Given the description of an element on the screen output the (x, y) to click on. 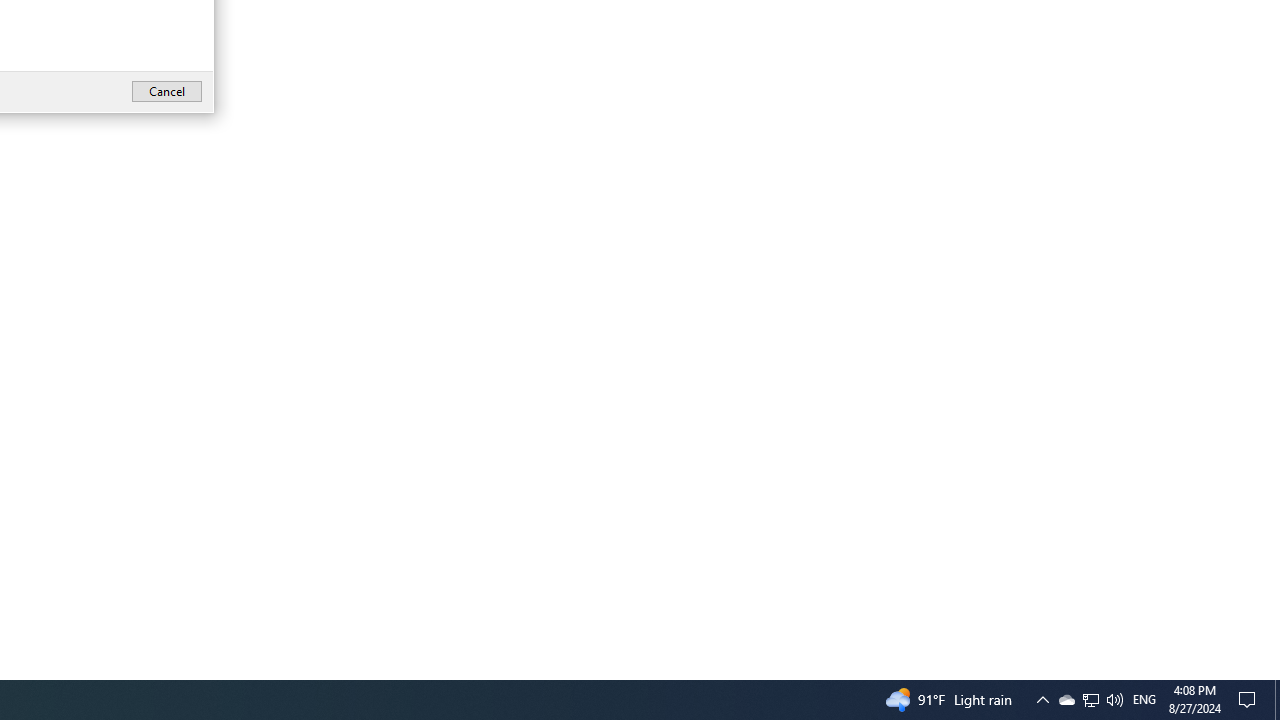
Action Center, No new notifications (1250, 699)
Notification Chevron (1042, 699)
Q2790: 100% (1066, 699)
Tray Input Indicator - English (United States) (1114, 699)
User Promoted Notification Area (1144, 699)
Show desktop (1090, 699)
Cancel (1277, 699)
